Given the description of an element on the screen output the (x, y) to click on. 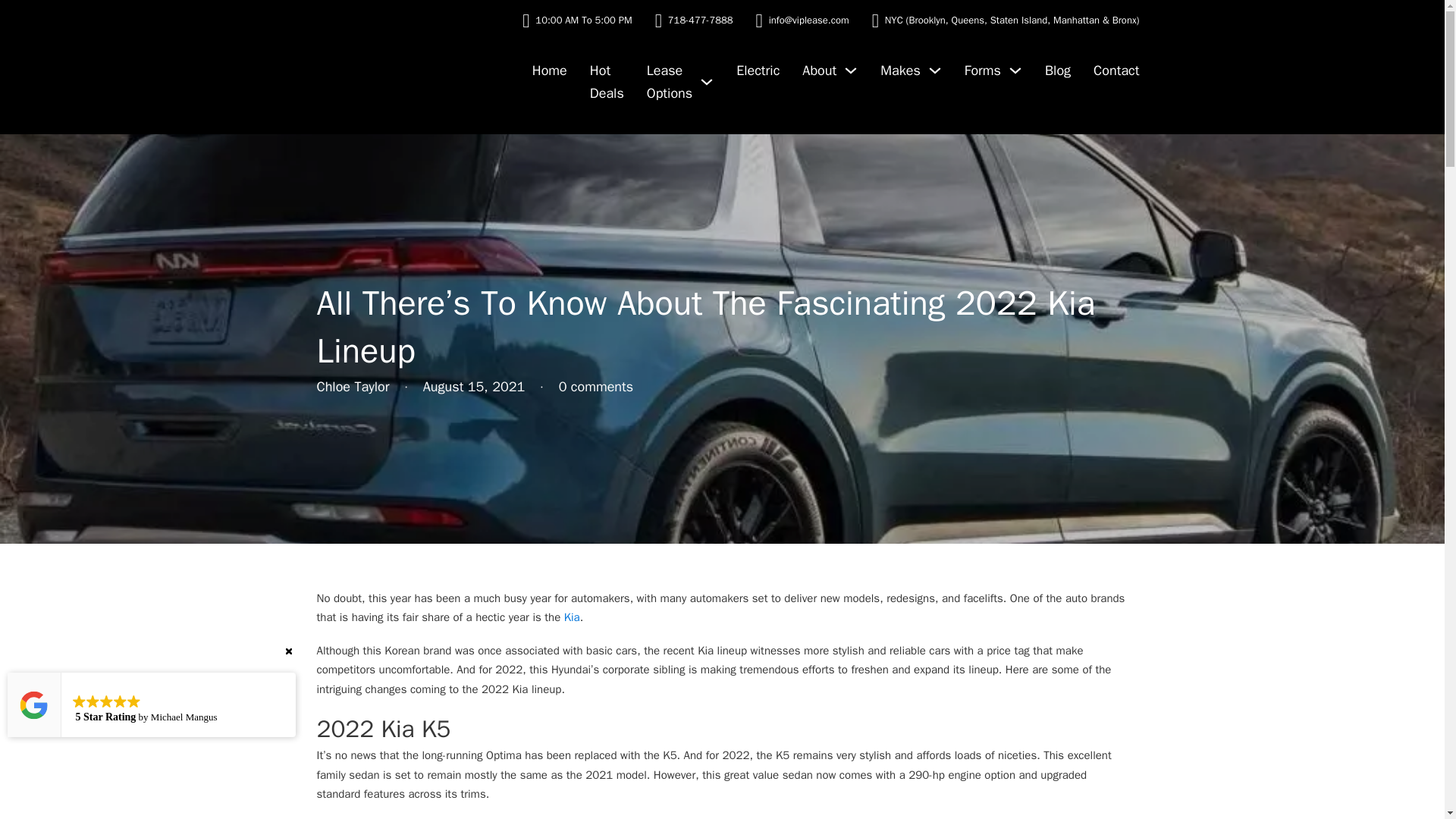
Home (549, 70)
Makes (900, 70)
Electric (757, 70)
718-477-7888 (700, 20)
About (818, 70)
Lease Options (669, 81)
